Given the description of an element on the screen output the (x, y) to click on. 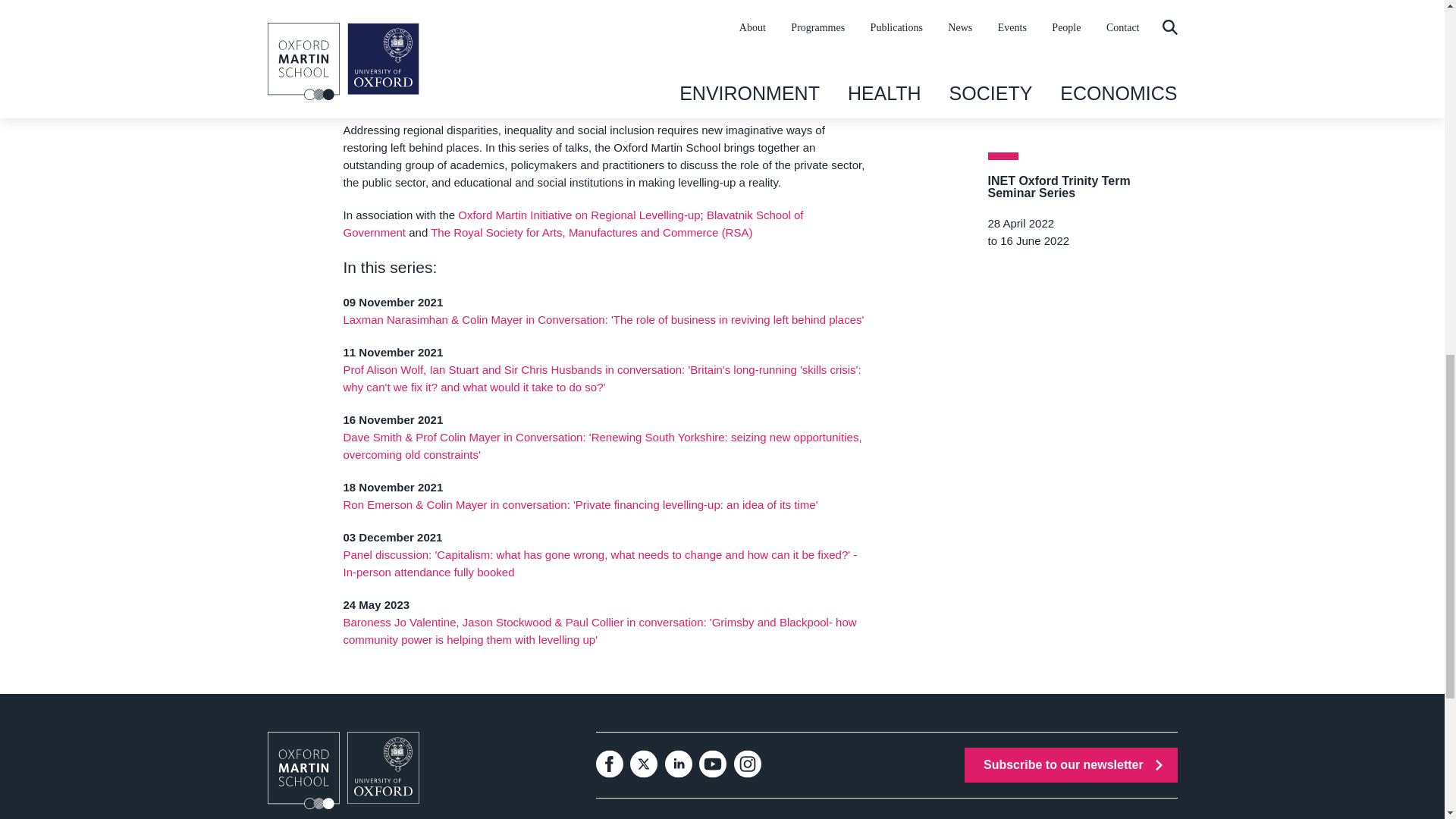
More on this event (579, 504)
More on this event (602, 318)
More on this event (599, 630)
Blavatnik School of Government (572, 223)
More on this event (599, 562)
More on this event (601, 378)
More on this event (601, 445)
Oxford Martin Initiative on Regional Levelling-up (579, 214)
